Given the description of an element on the screen output the (x, y) to click on. 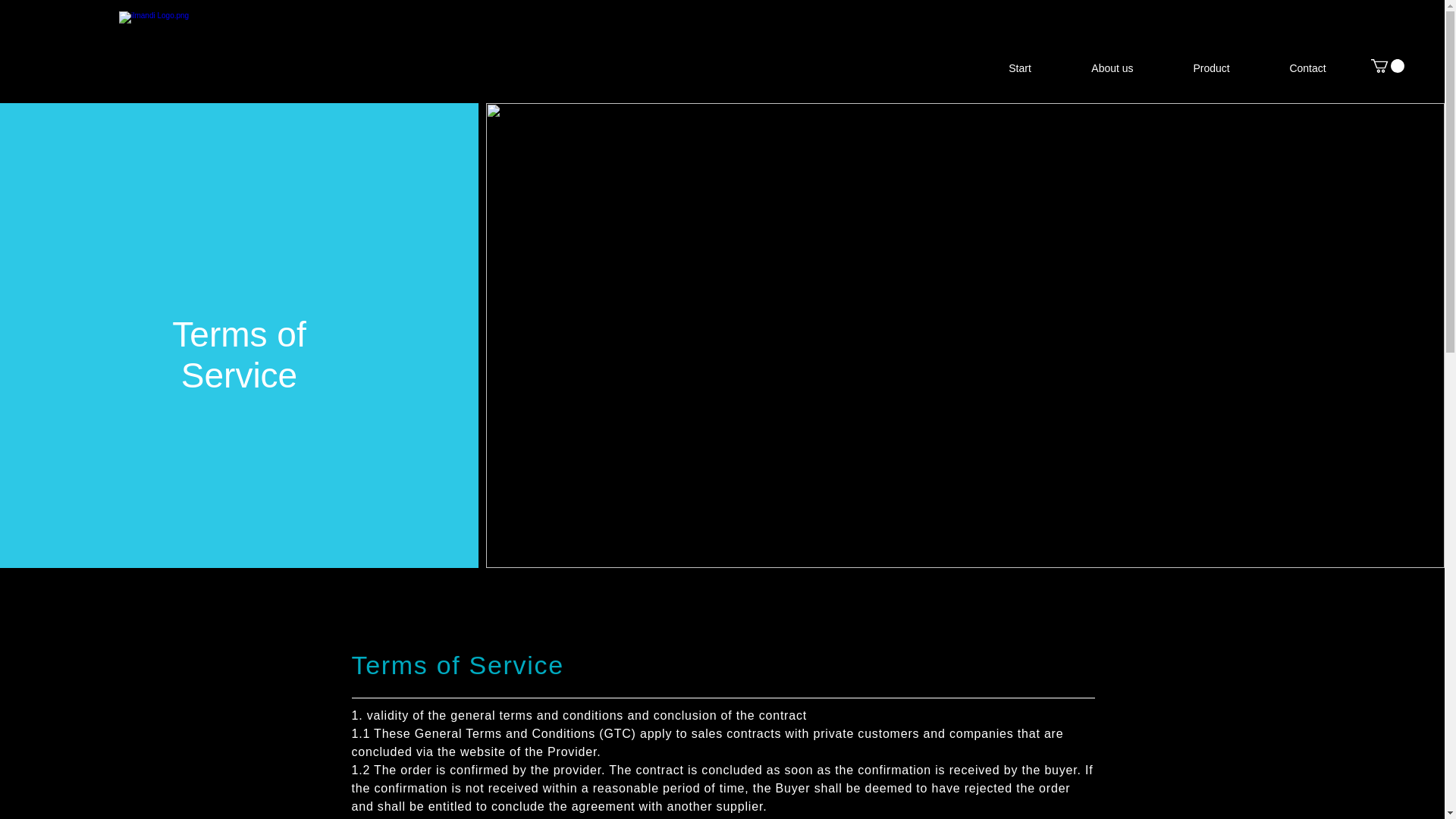
Contact (1307, 67)
About us (1112, 67)
Start (1019, 67)
Product (1211, 67)
